Given the description of an element on the screen output the (x, y) to click on. 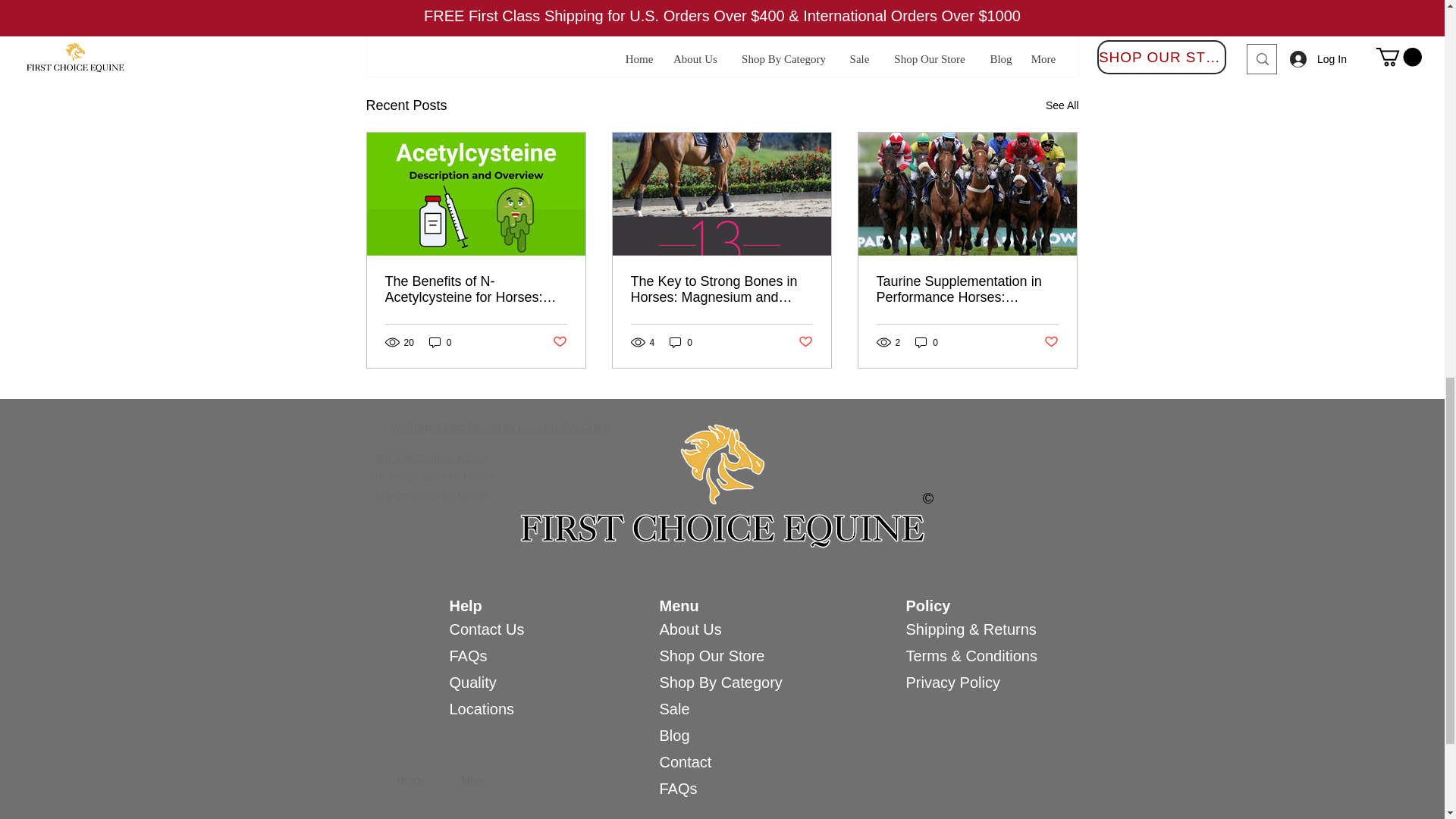
first-choice-equine-horse-supplements-and-vitamins-logo (722, 485)
